Given the description of an element on the screen output the (x, y) to click on. 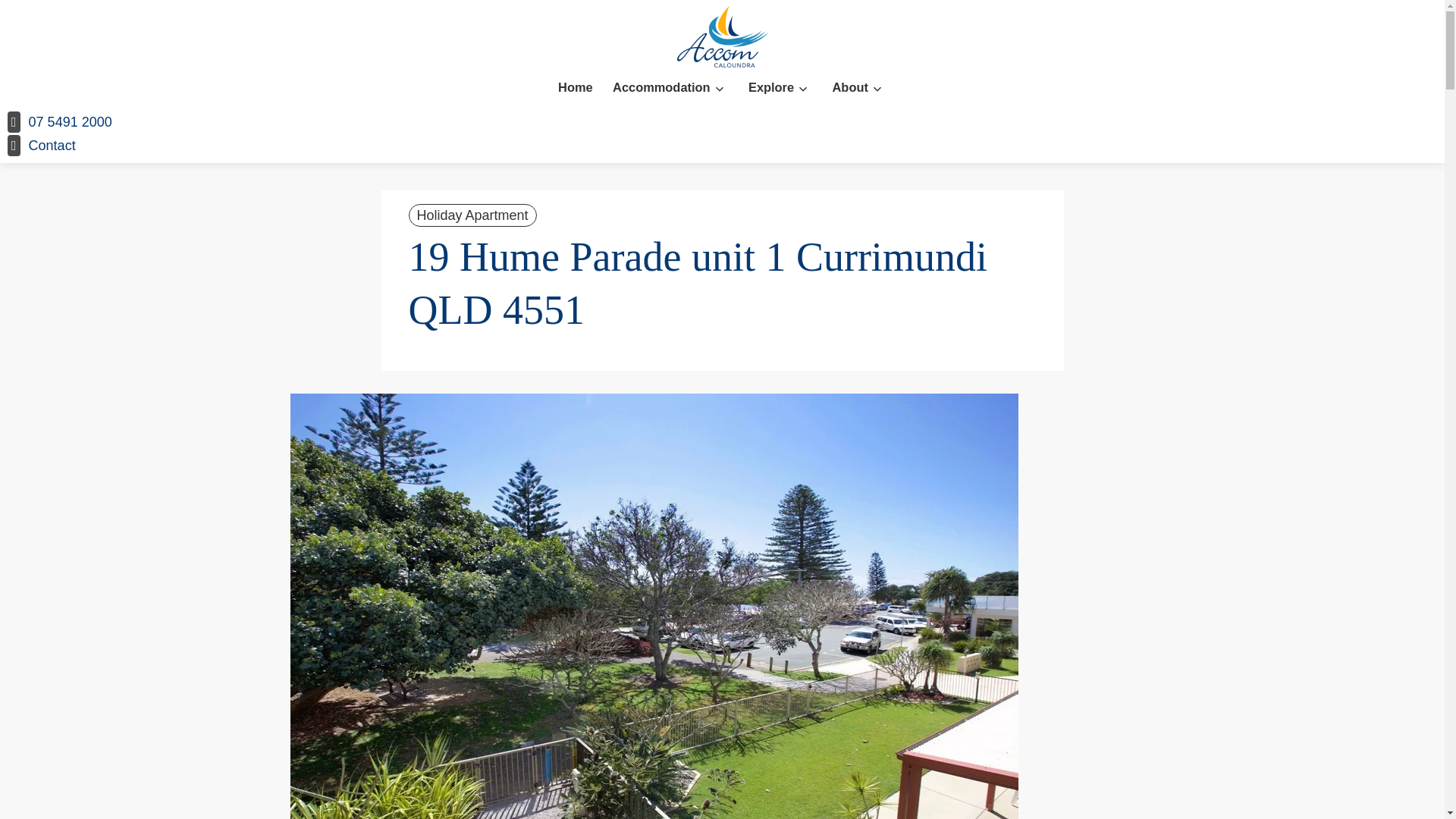
Home (574, 88)
Opens a widget where you can chat to one of our agents (1386, 792)
Accommodation (661, 88)
